Given the description of an element on the screen output the (x, y) to click on. 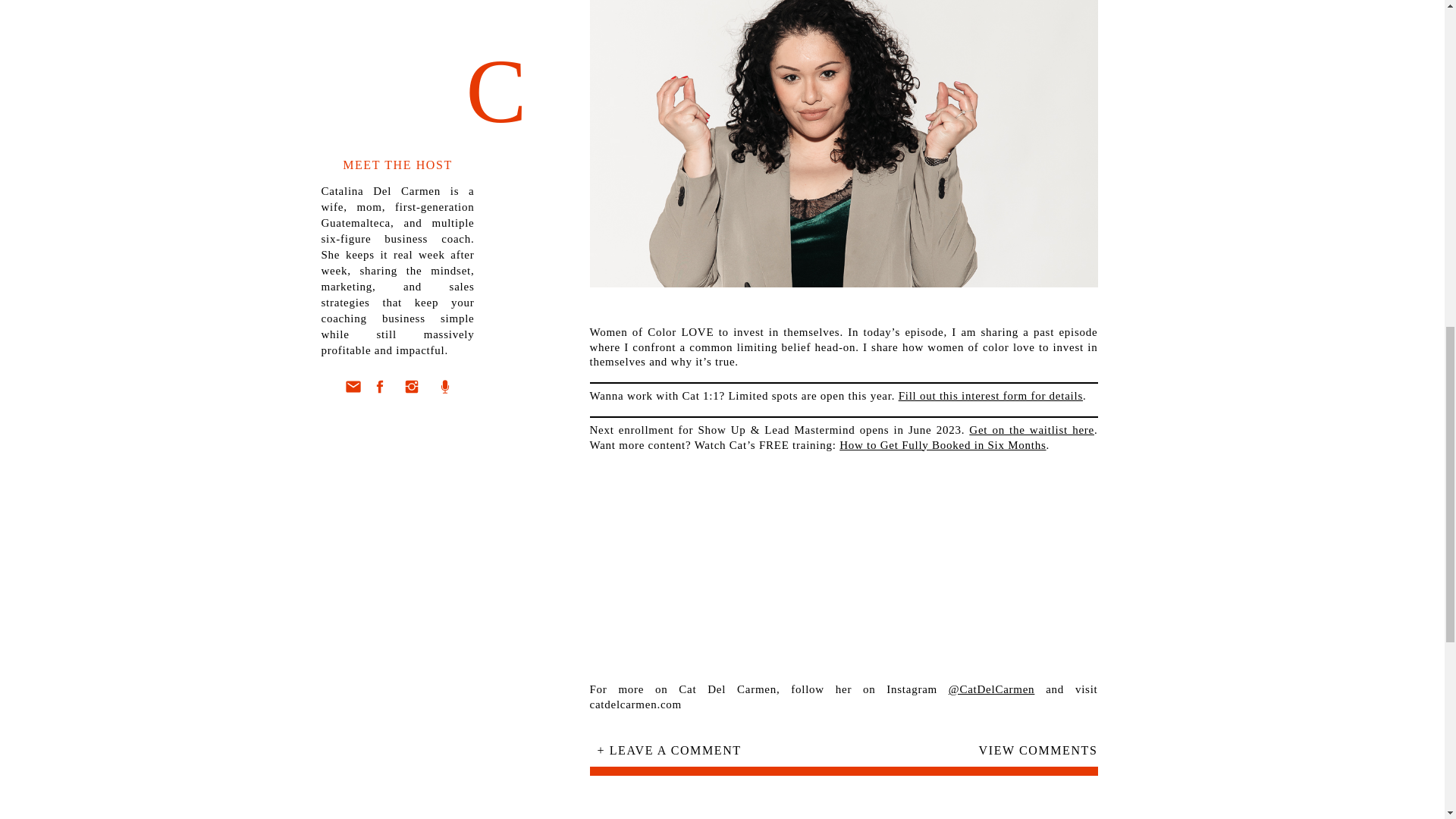
Get on the waitlist here (1031, 429)
How to Get Fully Booked in Six Months (942, 444)
Fill out this interest form for details (990, 395)
VIEW COMMENTS (1020, 754)
